Given the description of an element on the screen output the (x, y) to click on. 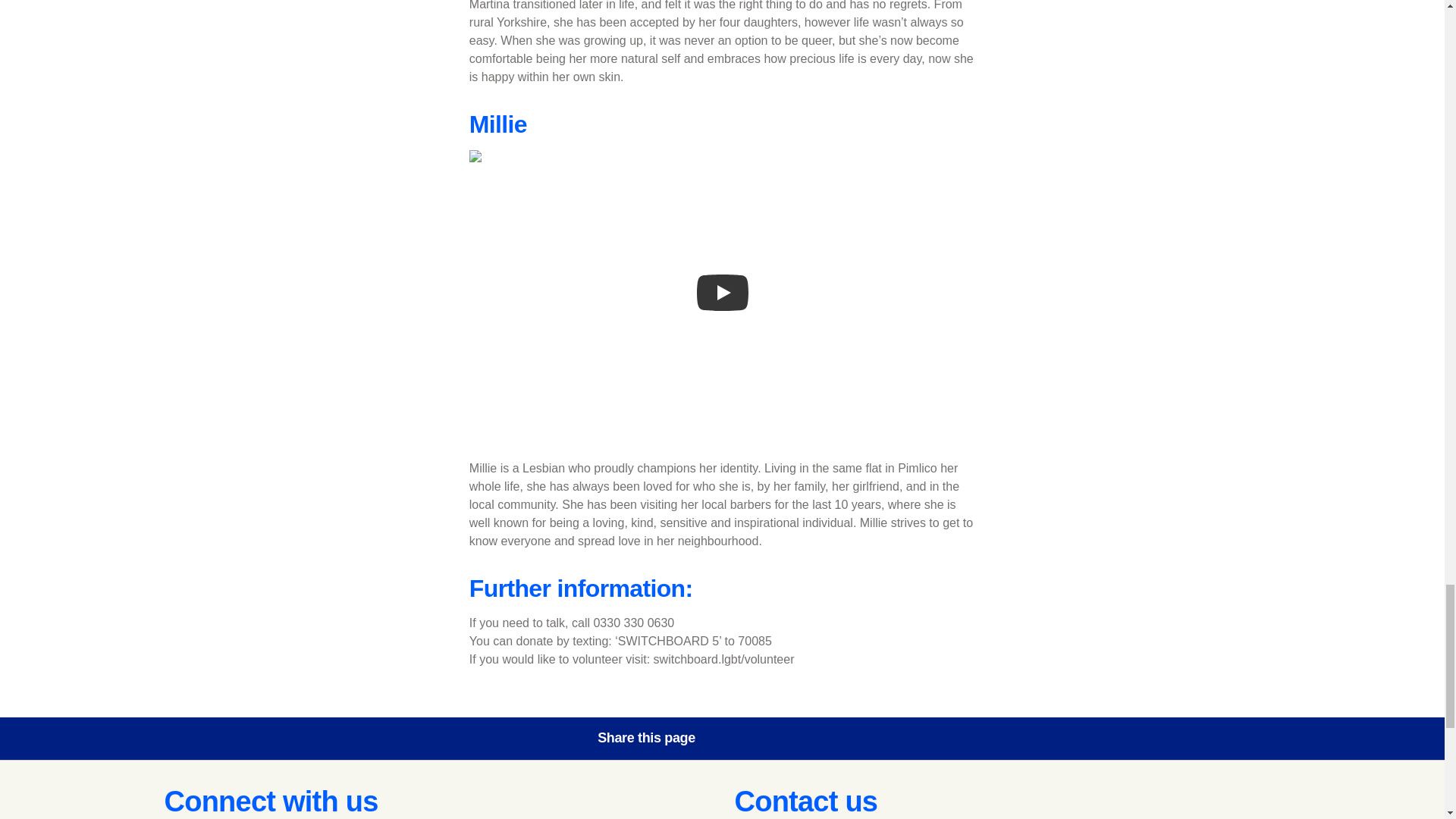
Share this page on Facebook (740, 738)
Share this page on Linked In (825, 738)
Share this page on X (782, 738)
Share this page on E-mail (868, 738)
